Given the description of an element on the screen output the (x, y) to click on. 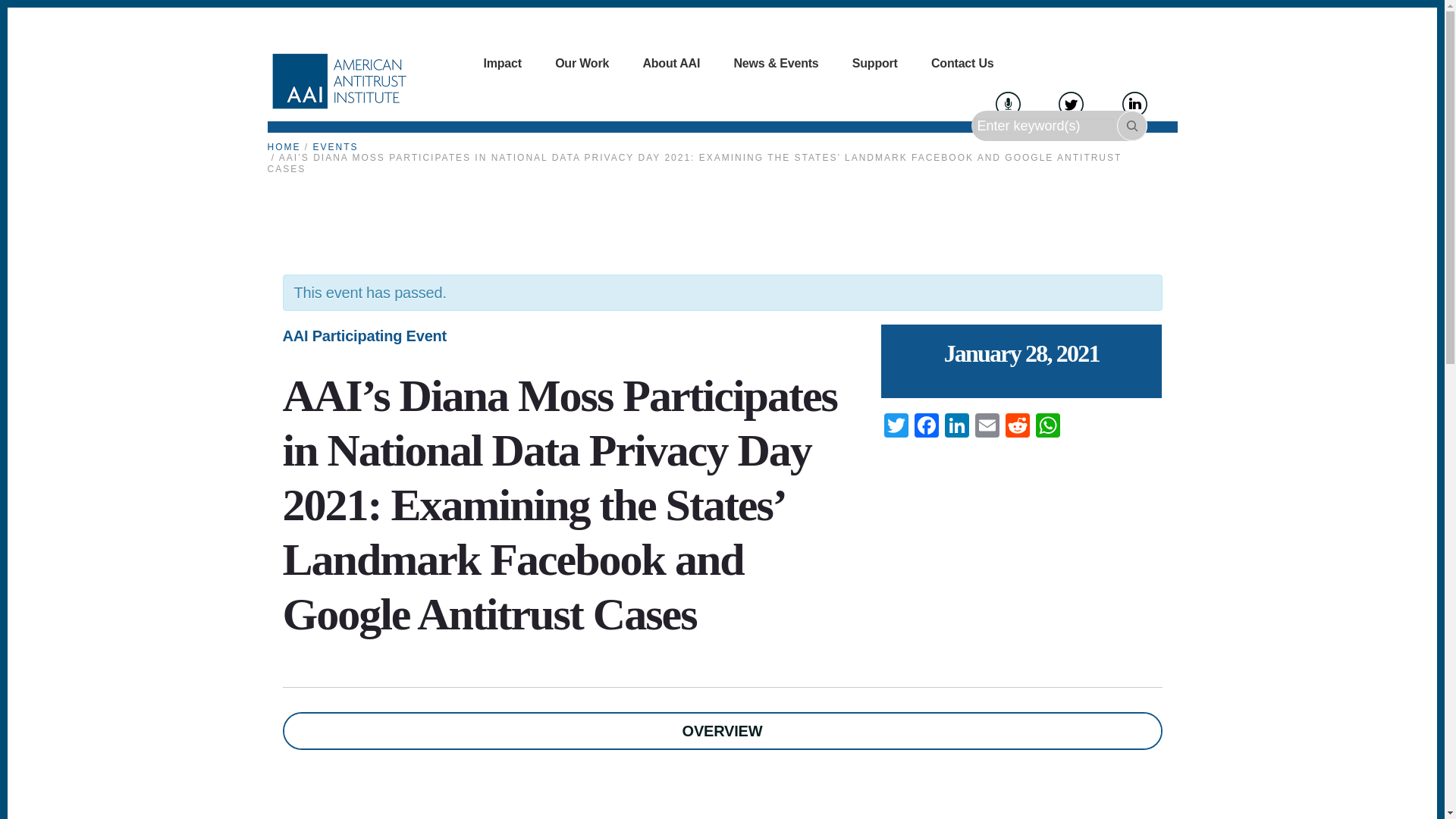
LinkedIn (957, 427)
Our Work (581, 64)
About AAI (671, 64)
Impact (502, 64)
WhatsApp (1047, 427)
Twitter (895, 427)
Reddit (1017, 427)
Email (987, 427)
Facebook (926, 427)
